Given the description of an element on the screen output the (x, y) to click on. 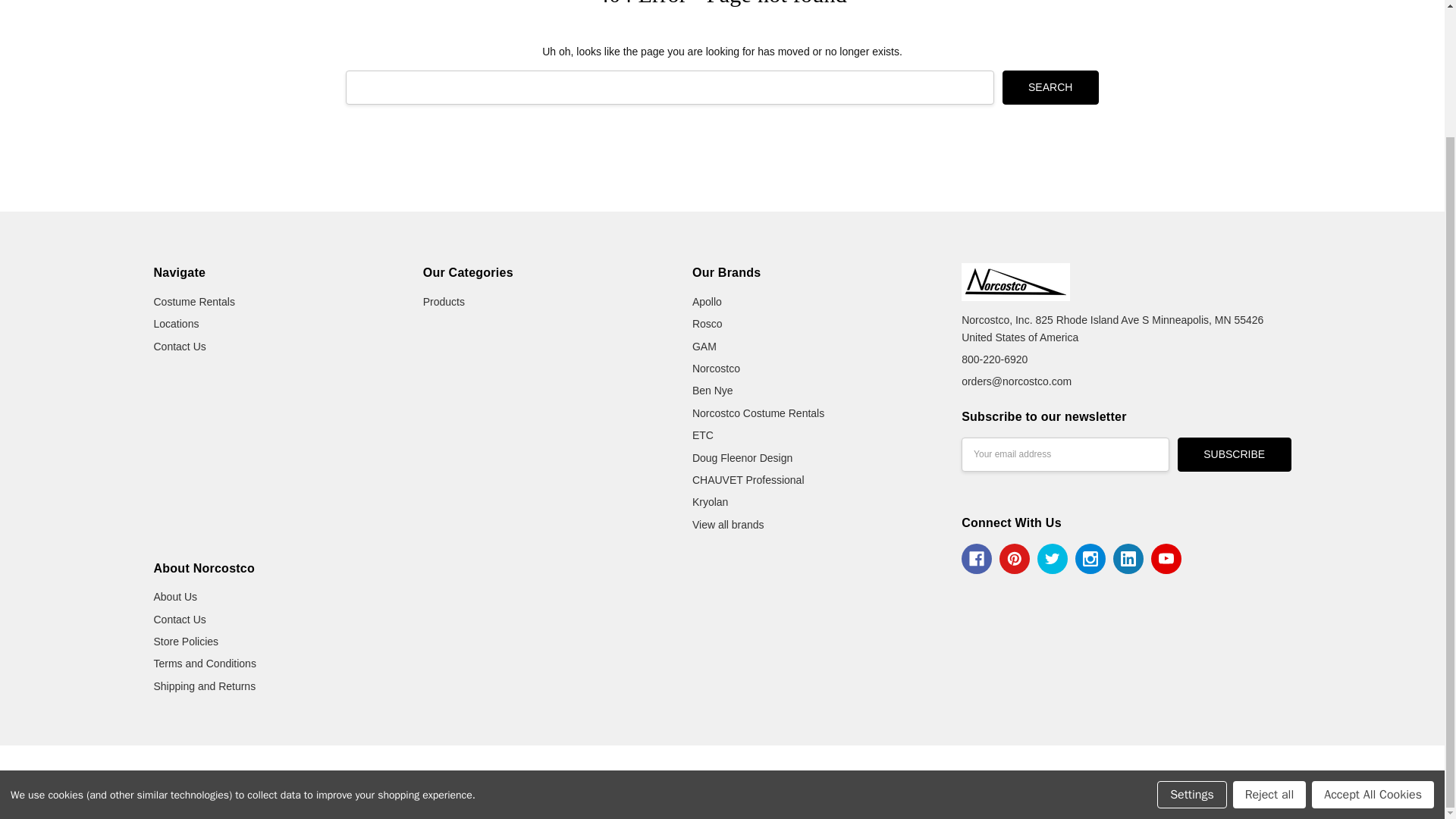
Subscribe (1234, 454)
Norcostco (1015, 281)
Search (1051, 87)
